Given the description of an element on the screen output the (x, y) to click on. 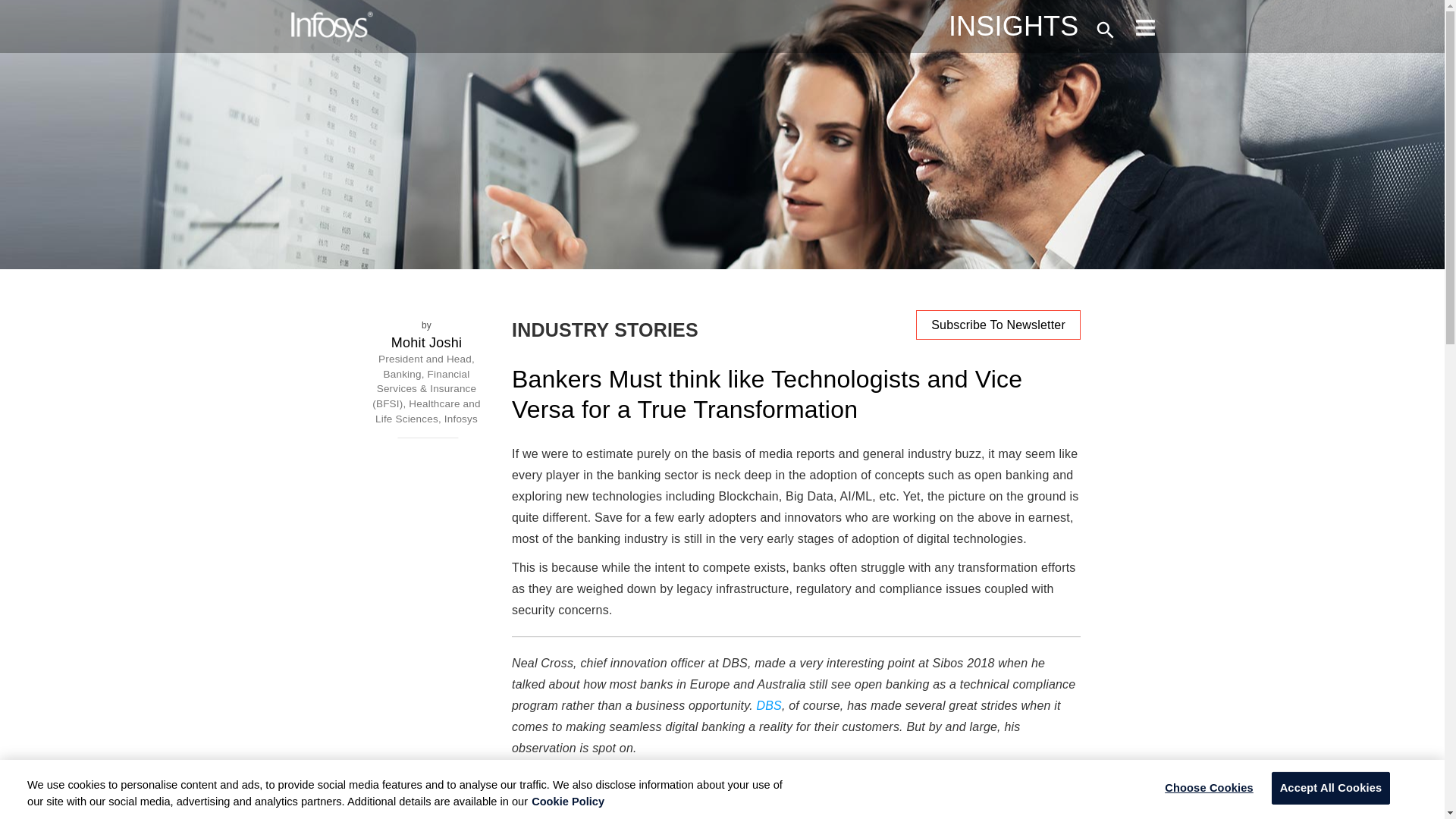
Mohit Joshi (426, 342)
INSIGHTS (1013, 25)
Subscribe To Newsletter (997, 324)
DBS (768, 705)
